Given the description of an element on the screen output the (x, y) to click on. 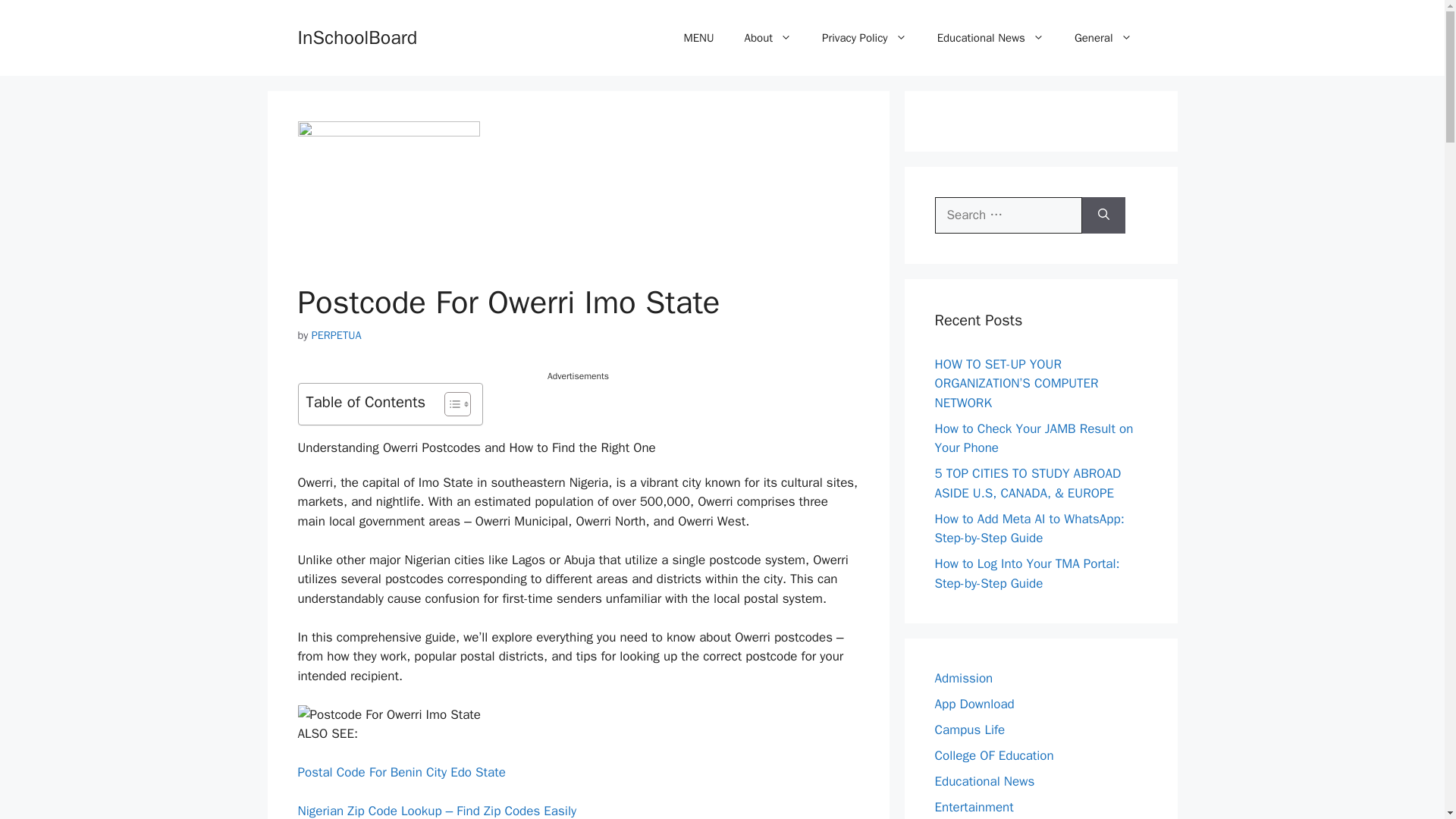
View all posts by PERPETUA (336, 335)
PERPETUA (336, 335)
InSchoolBoard (356, 37)
Privacy Policy (863, 37)
Educational News (990, 37)
MENU (698, 37)
General (1103, 37)
About (767, 37)
